Given the description of an element on the screen output the (x, y) to click on. 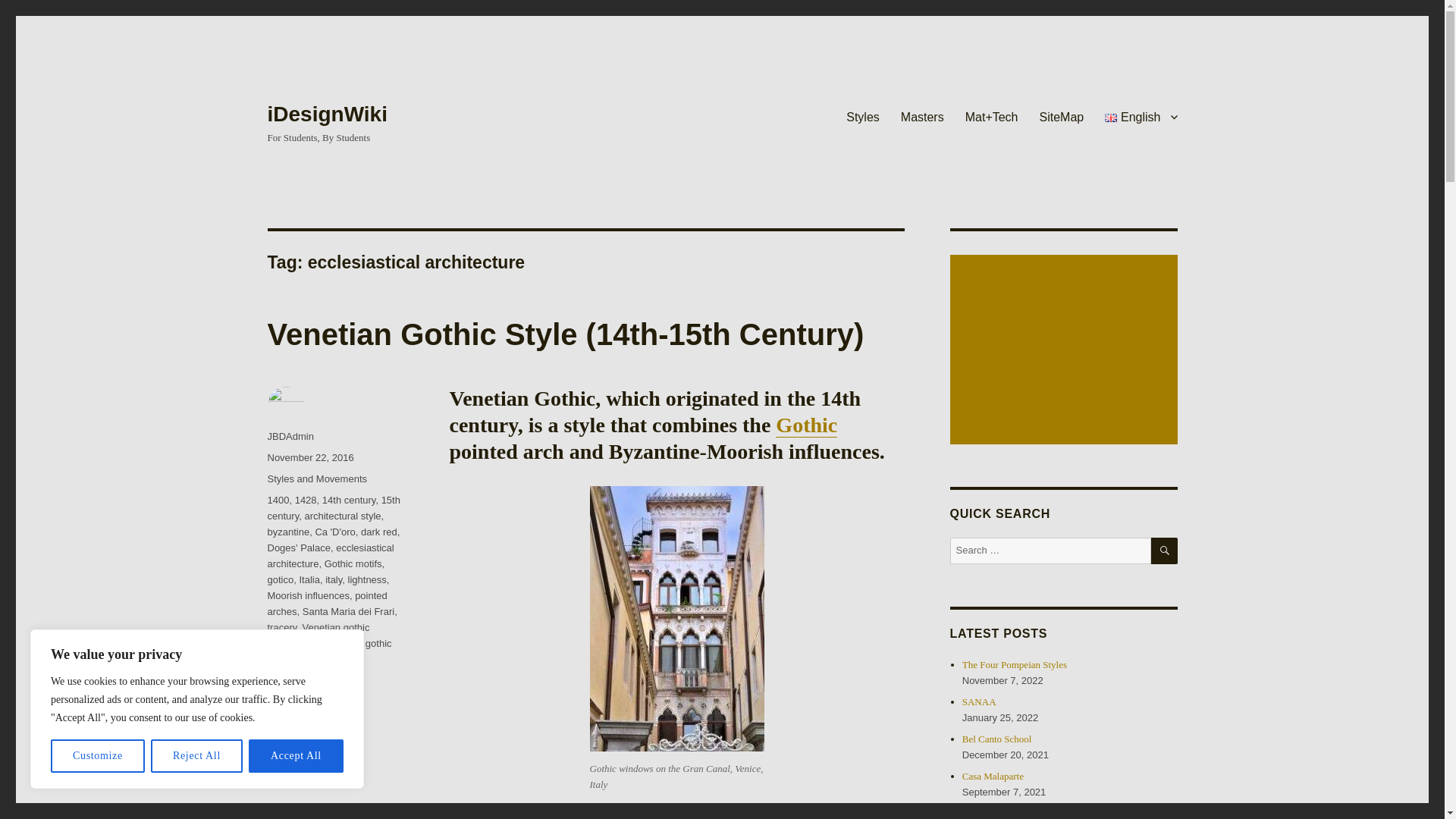
Styles (862, 116)
Customize (97, 756)
SiteMap (1061, 116)
Masters (922, 116)
Gothic (806, 424)
English (1141, 116)
Advertisement (1065, 350)
Accept All (295, 756)
Reject All (197, 756)
iDesignWiki (326, 114)
